Given the description of an element on the screen output the (x, y) to click on. 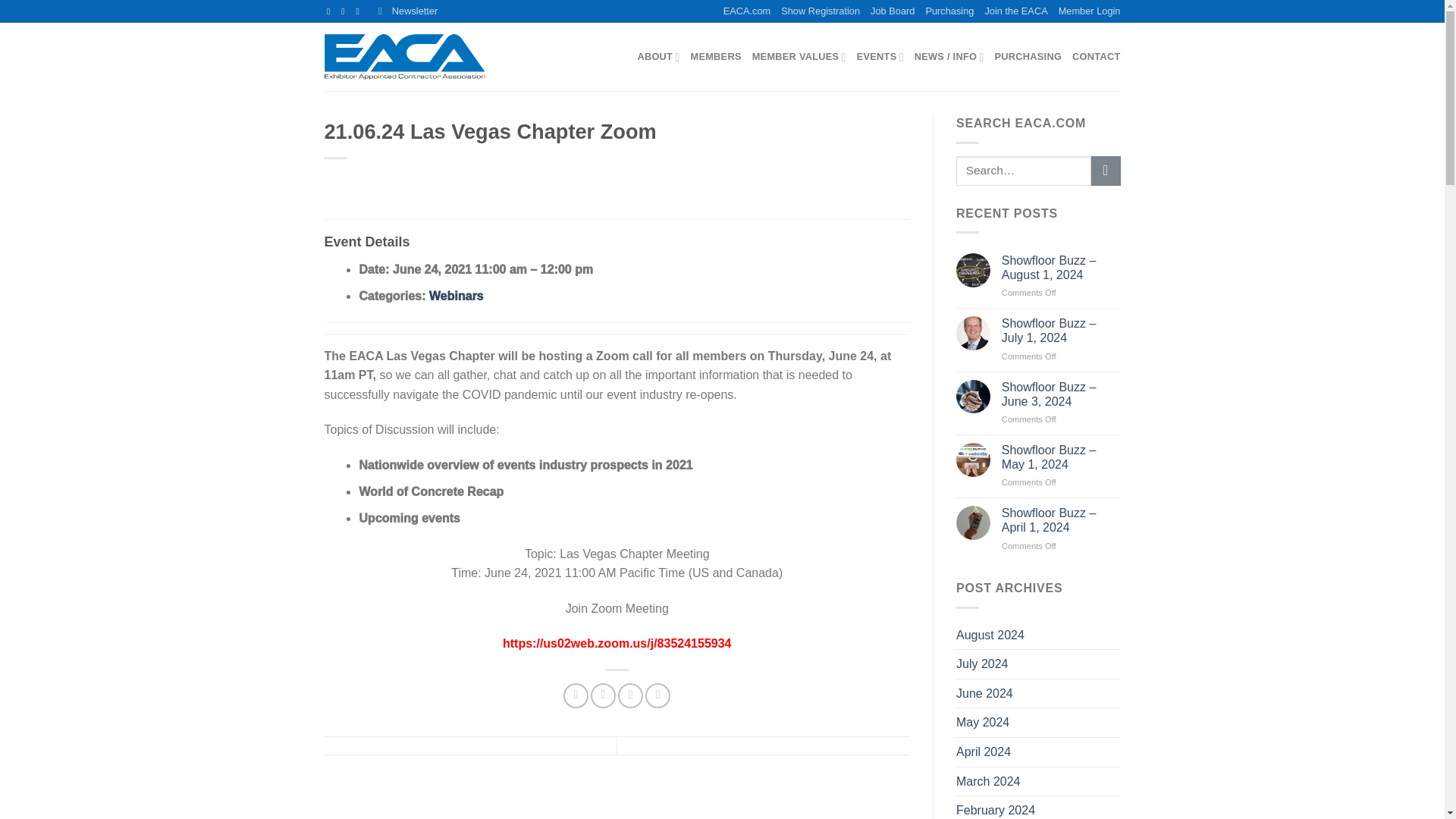
Member Login (1089, 11)
ABOUT (658, 56)
Purchasing (949, 11)
Show Registration (820, 11)
Newsletter (408, 11)
EACA.com (747, 11)
MEMBER VALUES (798, 56)
MEMBERS (715, 56)
EVENTS (880, 56)
